Given the description of an element on the screen output the (x, y) to click on. 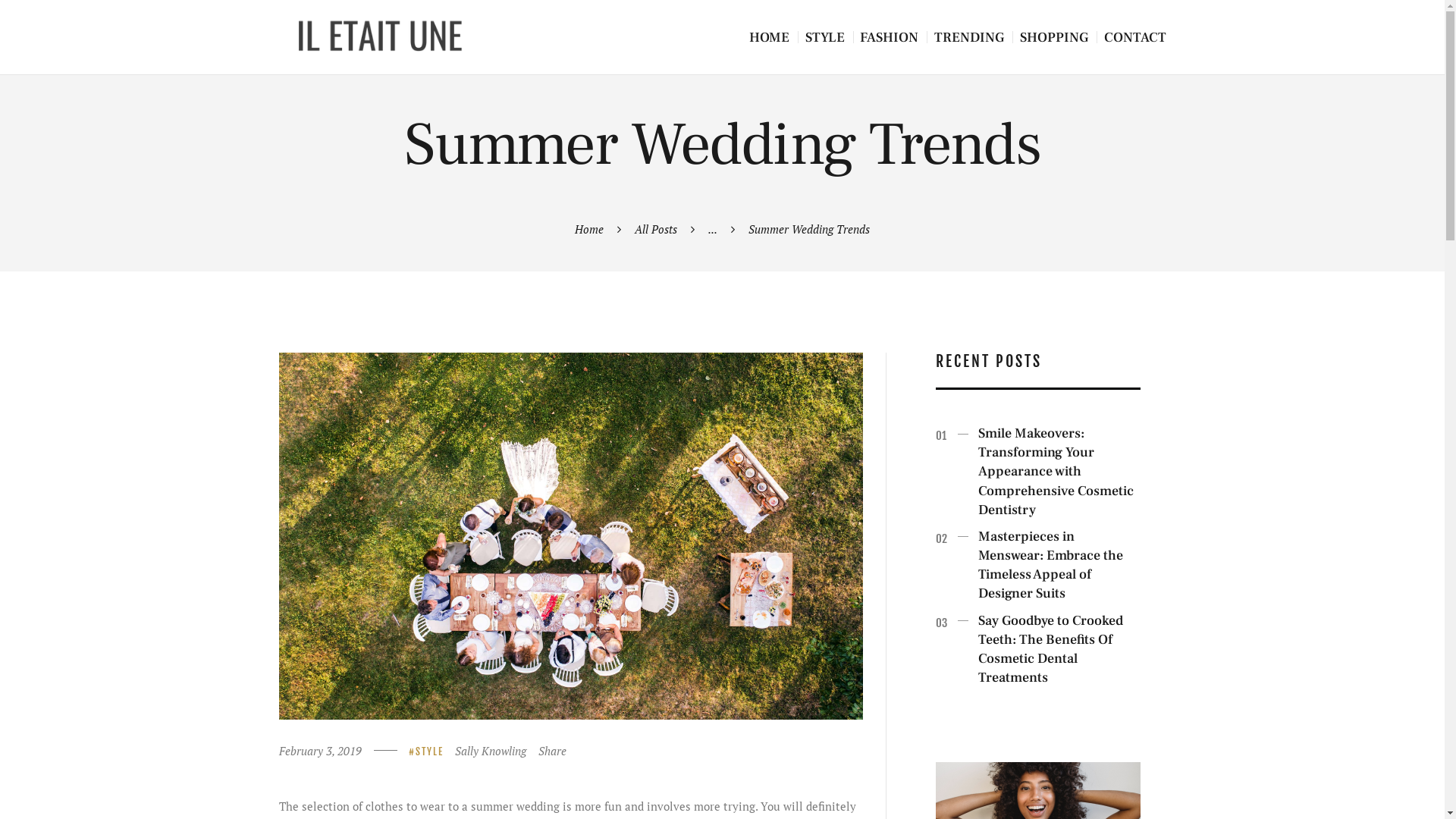
SHOPPING Element type: text (1053, 37)
All Posts Element type: text (655, 228)
TRENDING Element type: text (969, 37)
Share Element type: text (552, 750)
Home Element type: text (588, 228)
FASHION Element type: text (888, 37)
February 3, 2019 Element type: text (320, 750)
STYLE Element type: text (824, 37)
STYLE Element type: text (425, 751)
Sally Knowling Element type: text (496, 750)
HOME Element type: text (769, 37)
CONTACT Element type: text (1135, 37)
